Given the description of an element on the screen output the (x, y) to click on. 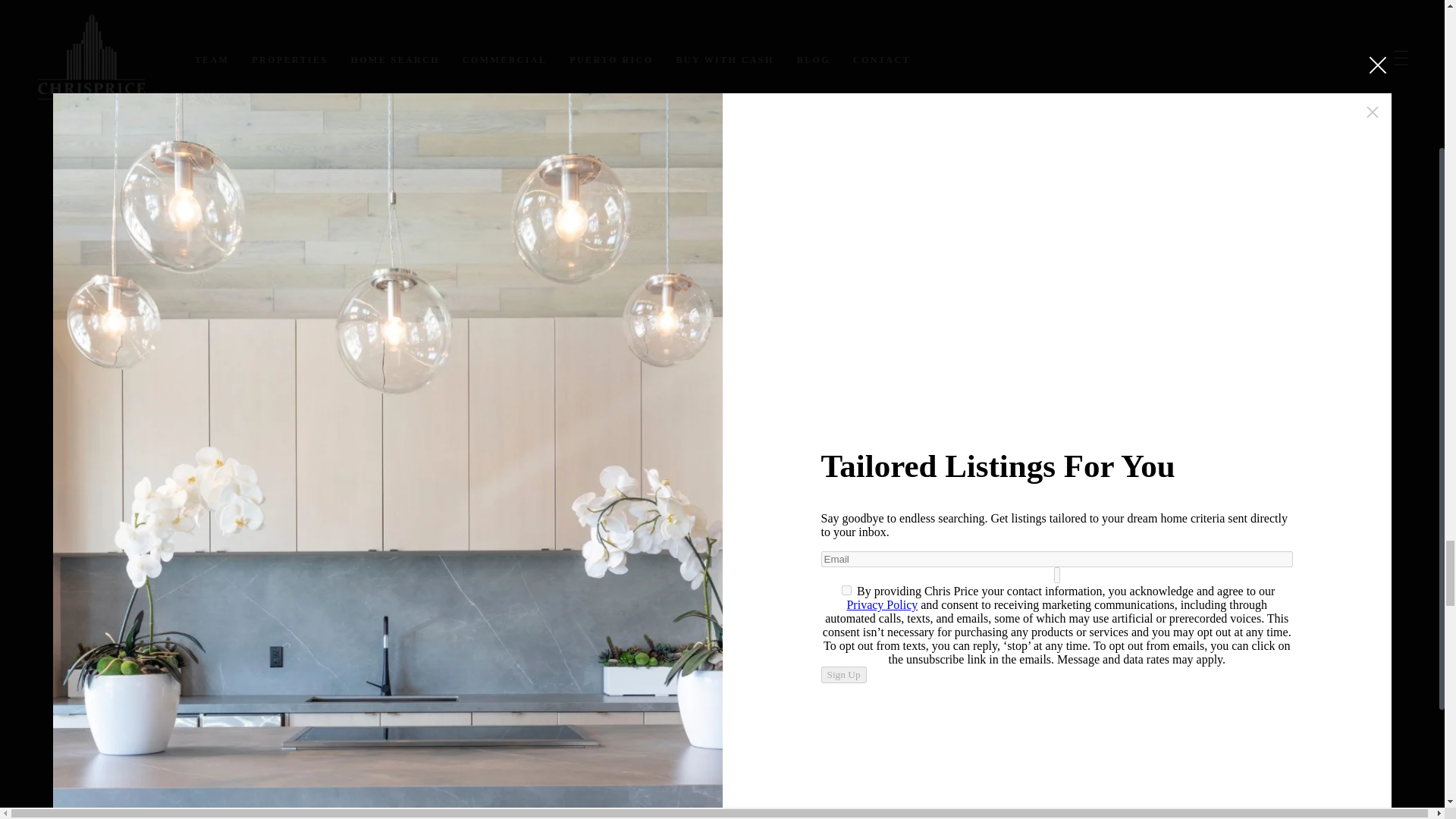
on (846, 590)
